Given the description of an element on the screen output the (x, y) to click on. 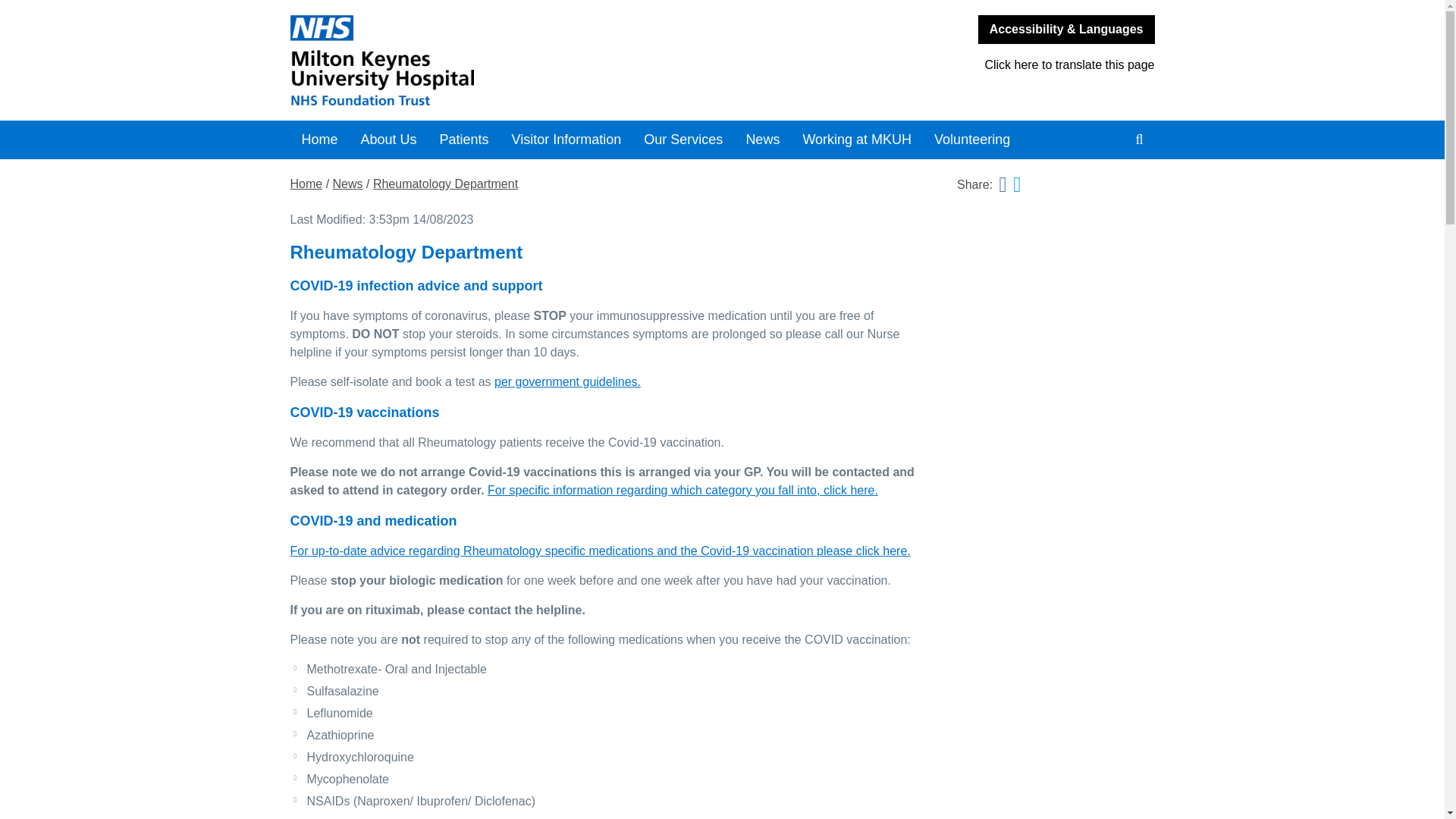
Twitter share (1016, 184)
News (761, 139)
Facebook share (1002, 184)
Visitor Information (566, 139)
Patients (464, 139)
Home (499, 60)
About Us (388, 139)
Our Services (682, 139)
Home (319, 139)
